Given the description of an element on the screen output the (x, y) to click on. 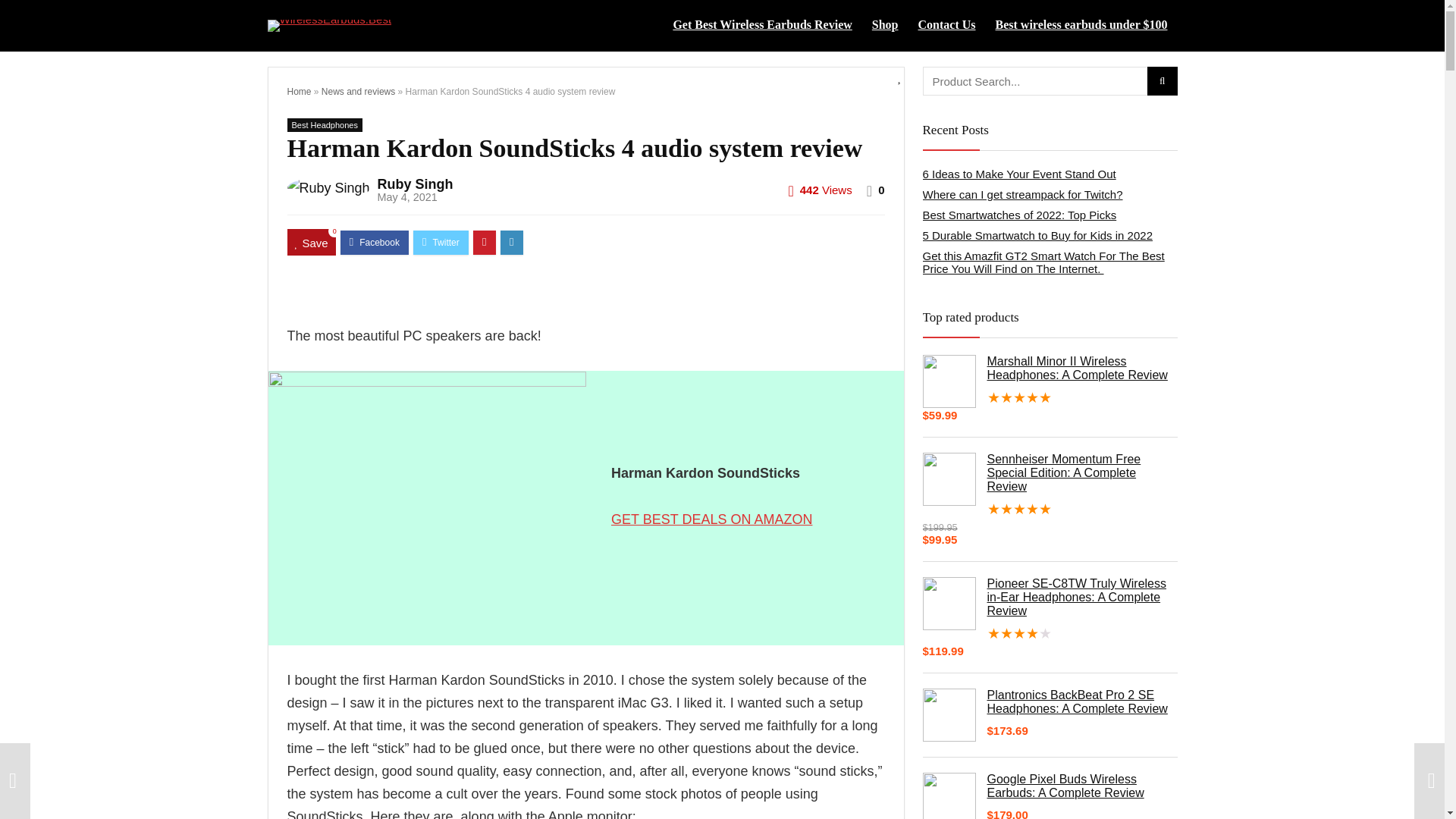
News and reviews (357, 91)
View all posts in Best Headphones (323, 124)
Rated 5 out of 5 (1048, 397)
5 Durable Smartwatch to Buy for Kids in 2022 (1037, 235)
Ruby Singh (414, 183)
Get Best Wireless Earbuds Review (761, 25)
Sennheiser Momentum Free Special Edition: A Complete Review (1048, 472)
Best Smartwatches of 2022: Top Picks (1018, 214)
Shop (884, 25)
